Given the description of an element on the screen output the (x, y) to click on. 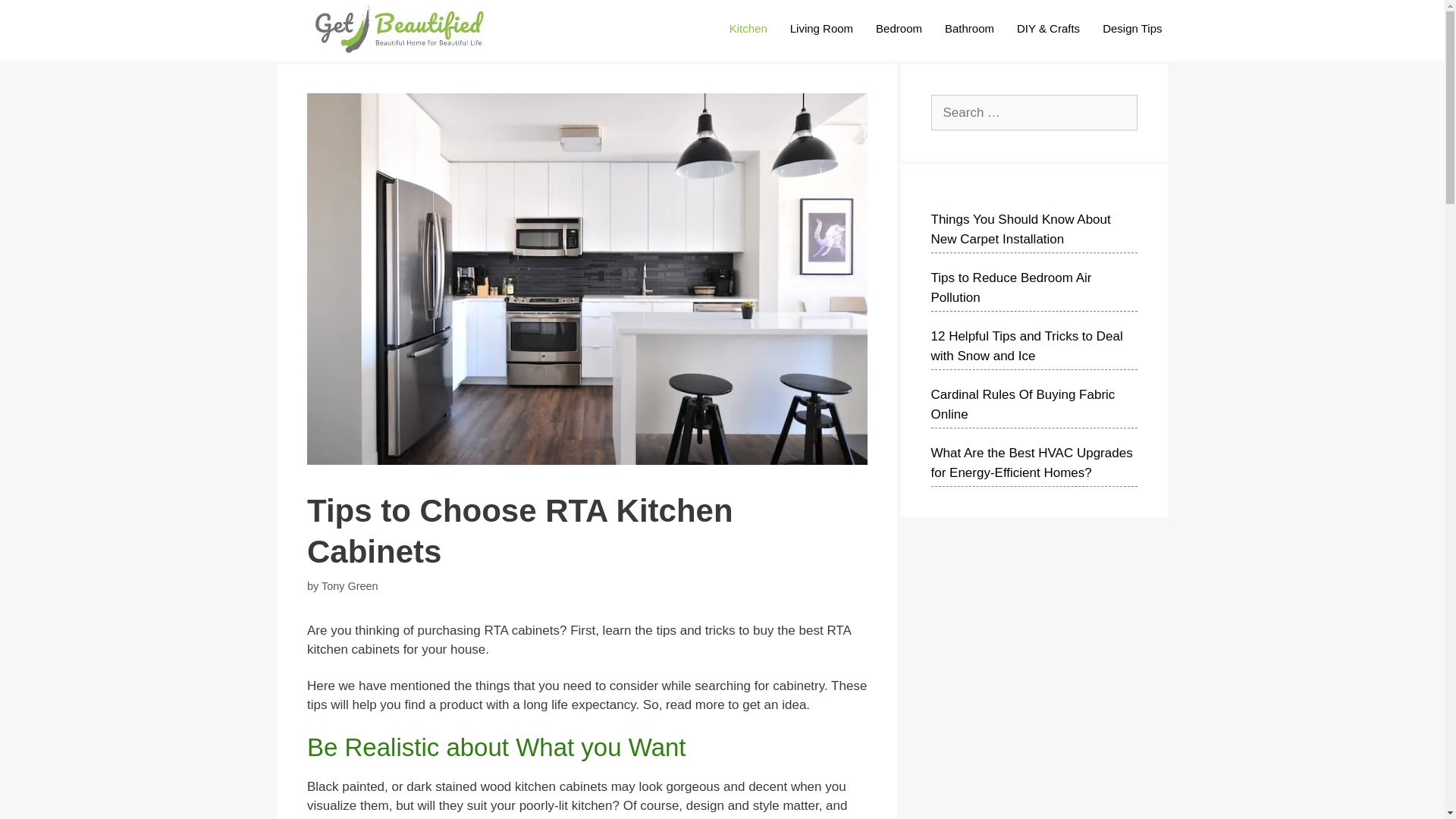
Bathroom (969, 28)
What Are the Best HVAC Upgrades for Energy-Efficient Homes? (1031, 462)
Things You Should Know About New Carpet Installation (1020, 229)
Tony Green (349, 585)
Design Tips (1131, 28)
Living Room (821, 28)
Bedroom (898, 28)
12 Helpful Tips and Tricks to Deal with Snow and Ice (1026, 346)
Kitchen (747, 28)
Search for: (1034, 113)
View all posts by Tony Green (349, 585)
Cardinal Rules Of Buying Fabric Online (1023, 404)
Tips to Reduce Bedroom Air Pollution (1011, 287)
Search (31, 15)
